Given the description of an element on the screen output the (x, y) to click on. 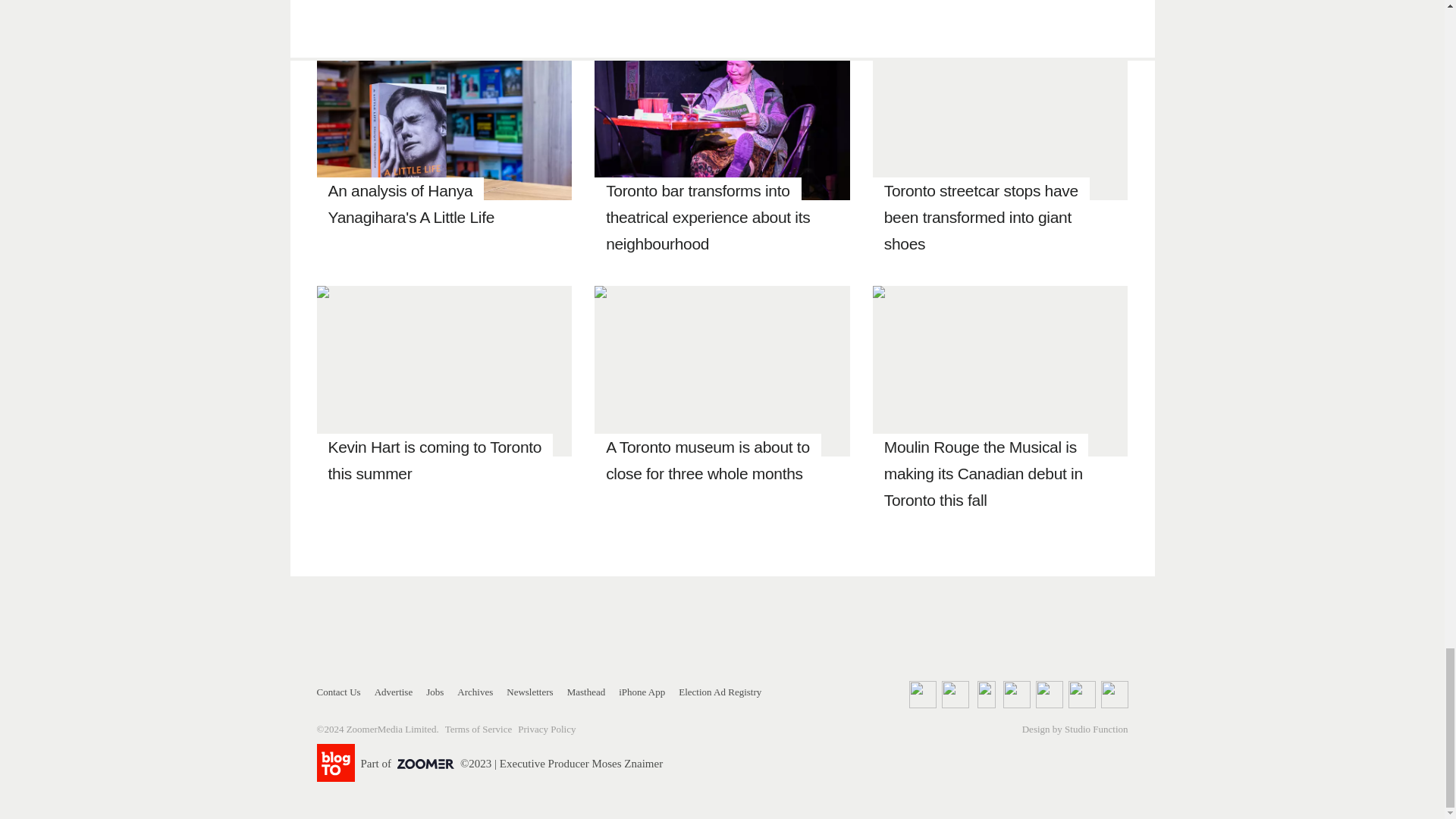
Contact Us (339, 691)
Jobs (435, 691)
Archives (475, 691)
Advertise (393, 691)
Newsletters (529, 691)
